Given the description of an element on the screen output the (x, y) to click on. 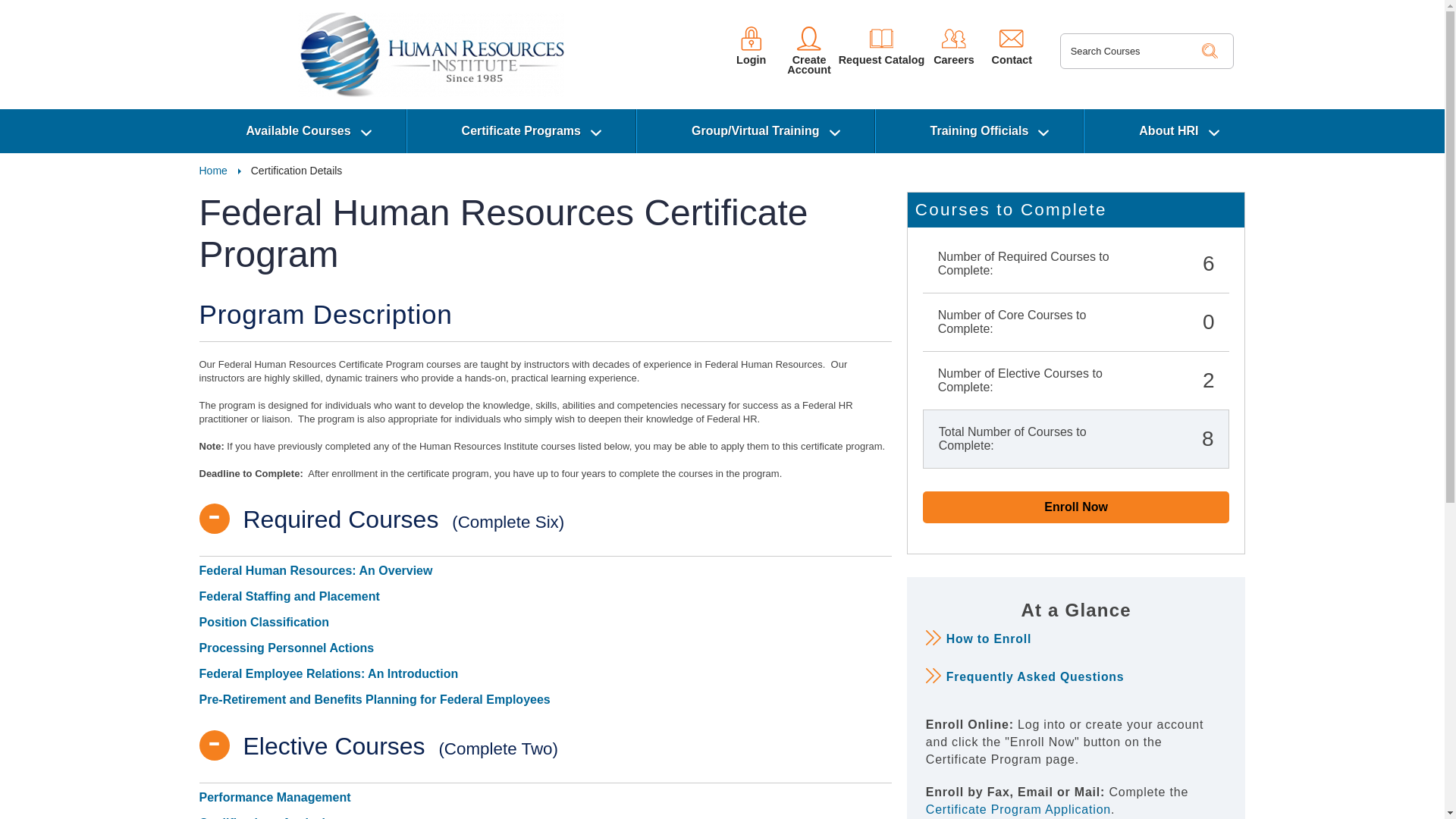
Create Account (809, 50)
Enroll Now (1076, 507)
Search (1209, 50)
Available Courses (298, 130)
Careers (953, 45)
Login (750, 45)
Contact (1011, 45)
Training Officials (979, 130)
Request Catalog (881, 45)
About HRI (1167, 130)
